Given the description of an element on the screen output the (x, y) to click on. 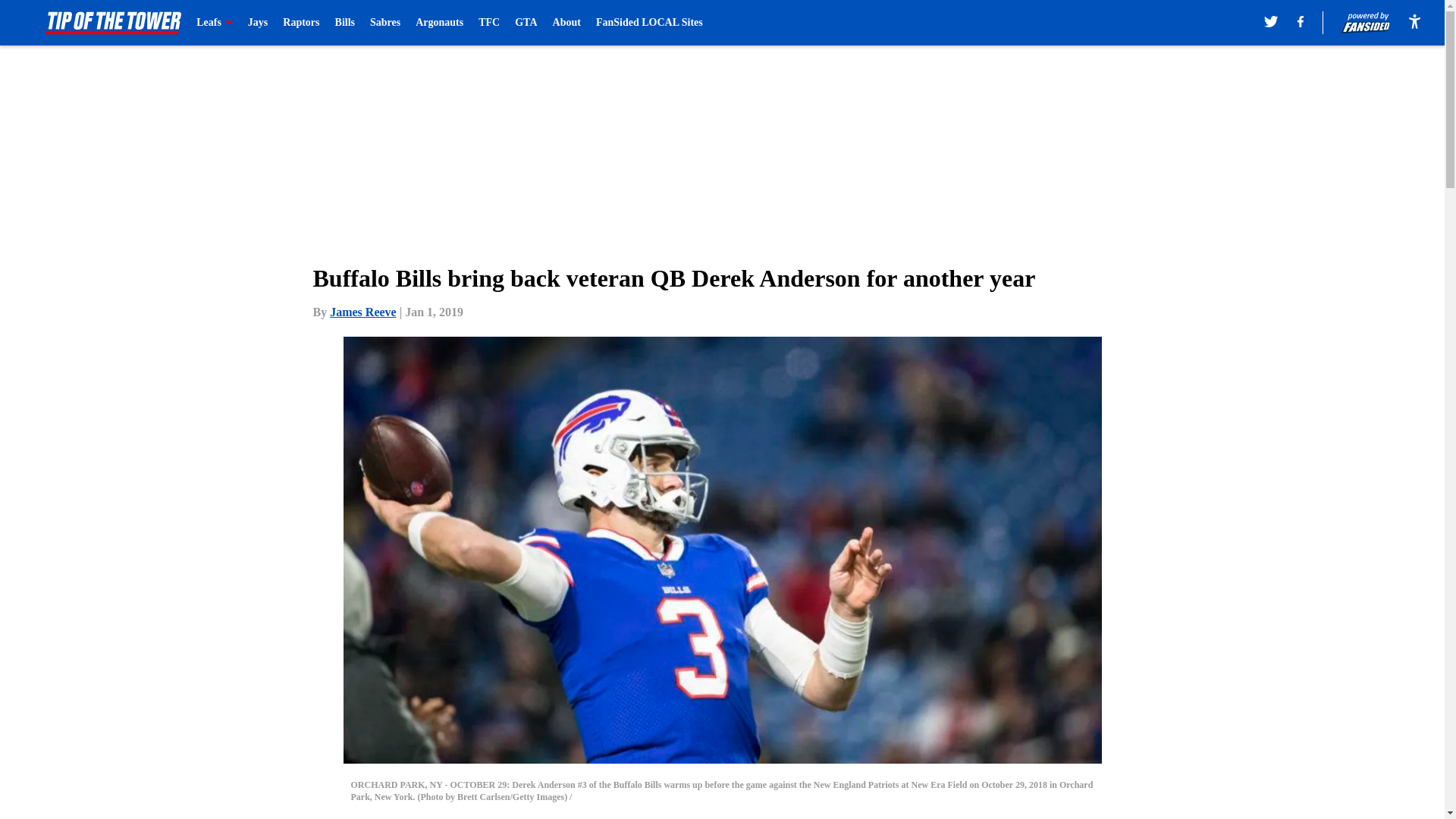
Bills (344, 22)
Argonauts (438, 22)
Jays (257, 22)
About (566, 22)
Sabres (384, 22)
TFC (489, 22)
FanSided LOCAL Sites (649, 22)
GTA (526, 22)
Raptors (300, 22)
James Reeve (363, 311)
